Given the description of an element on the screen output the (x, y) to click on. 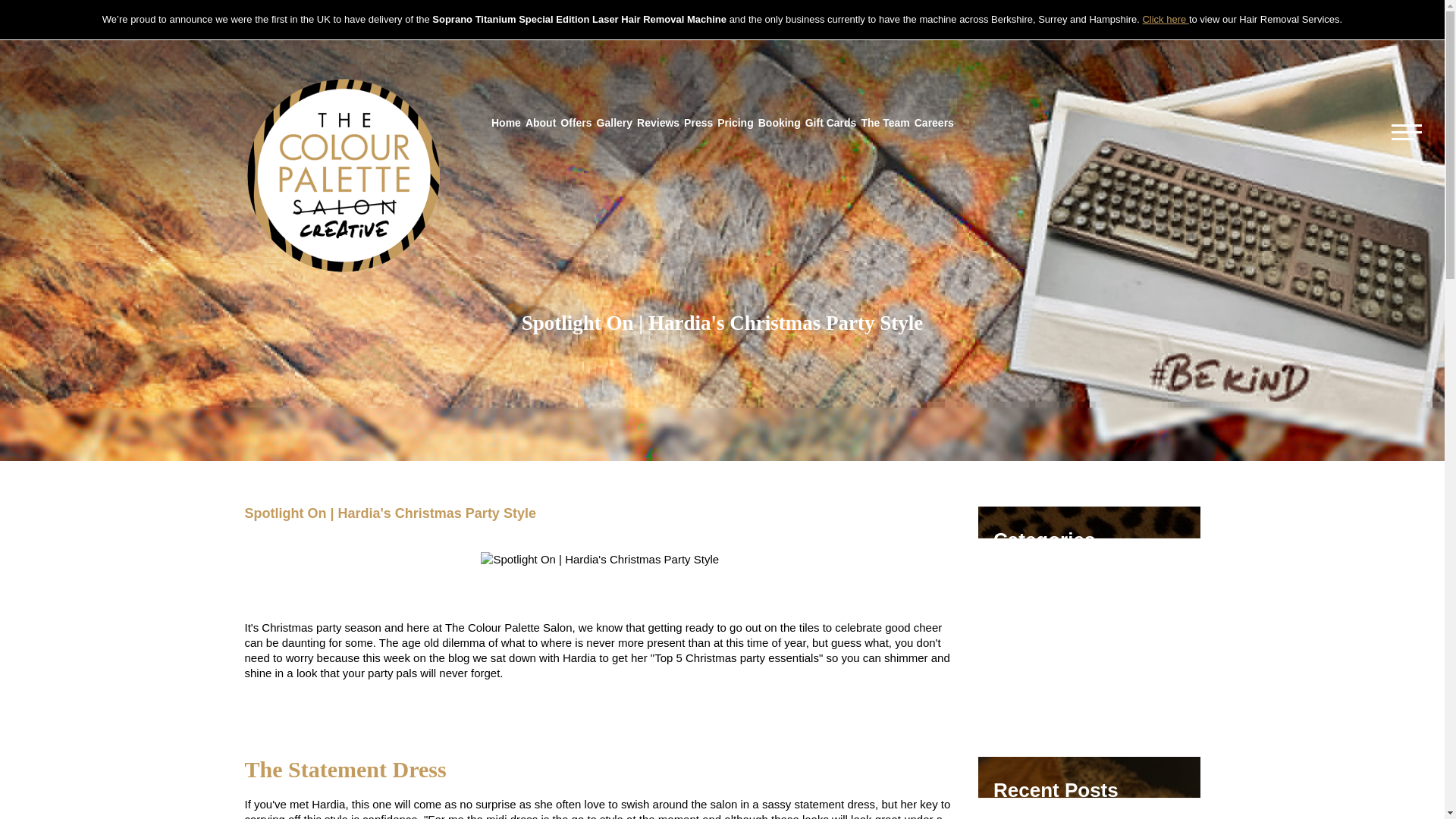
Click here (1164, 19)
Pricing (734, 122)
RebelKid (1015, 694)
Reviews (657, 122)
Press (697, 122)
TeamColourPalette (1041, 669)
Careers (934, 122)
The Team (885, 122)
Offers (575, 122)
Booking (779, 122)
The Collor Palate Salon (342, 174)
Gift Cards (831, 122)
The Colour Palette Fashion Gallery (1081, 572)
Home (505, 122)
